Given the description of an element on the screen output the (x, y) to click on. 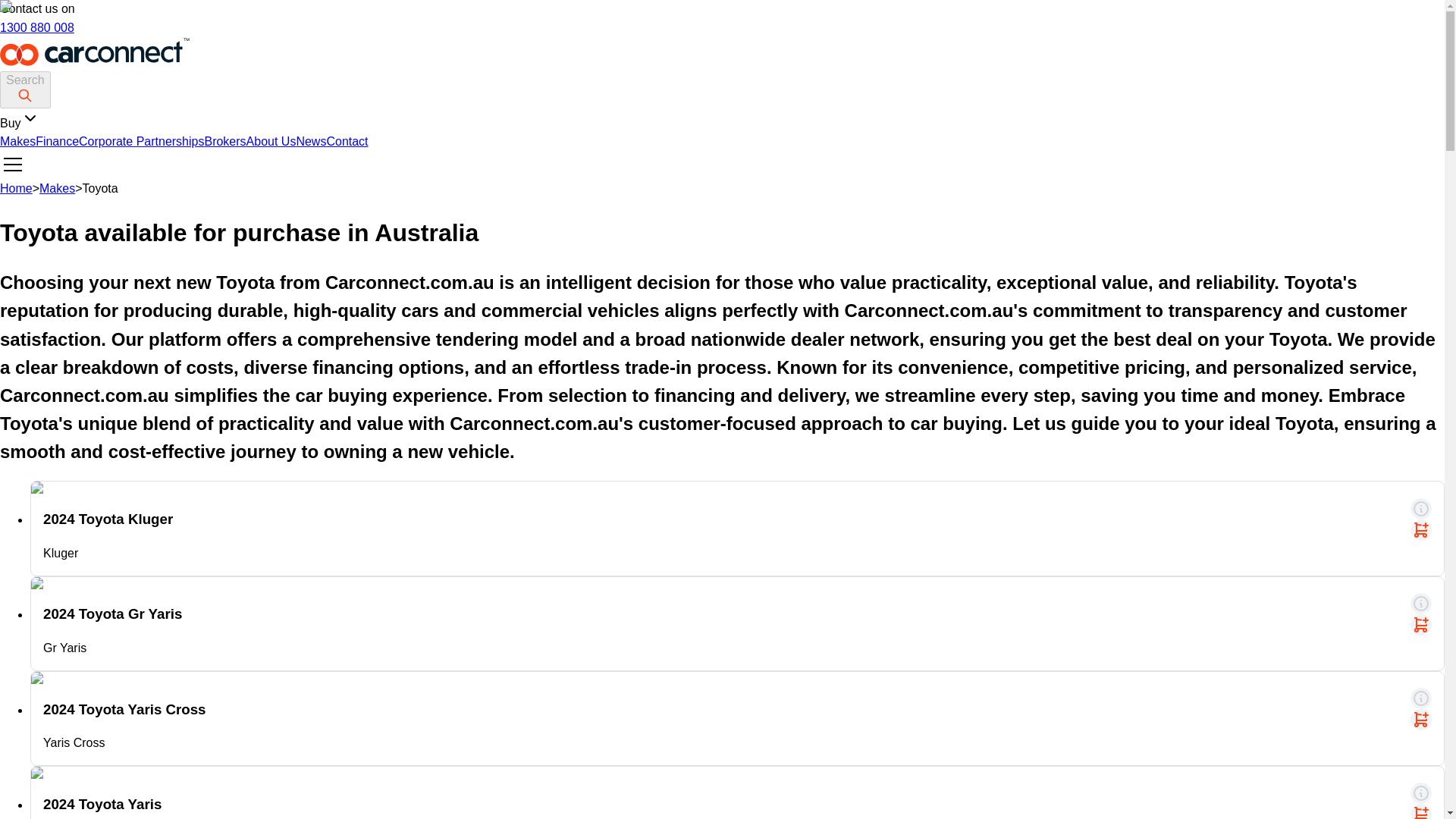
About Us (271, 141)
Corporate Partnerships (140, 141)
Finance (56, 141)
News (310, 141)
1300 880 008 (37, 27)
Home (16, 187)
Makes (57, 187)
Brokers (224, 141)
Search (25, 89)
Makes (17, 141)
